Given the description of an element on the screen output the (x, y) to click on. 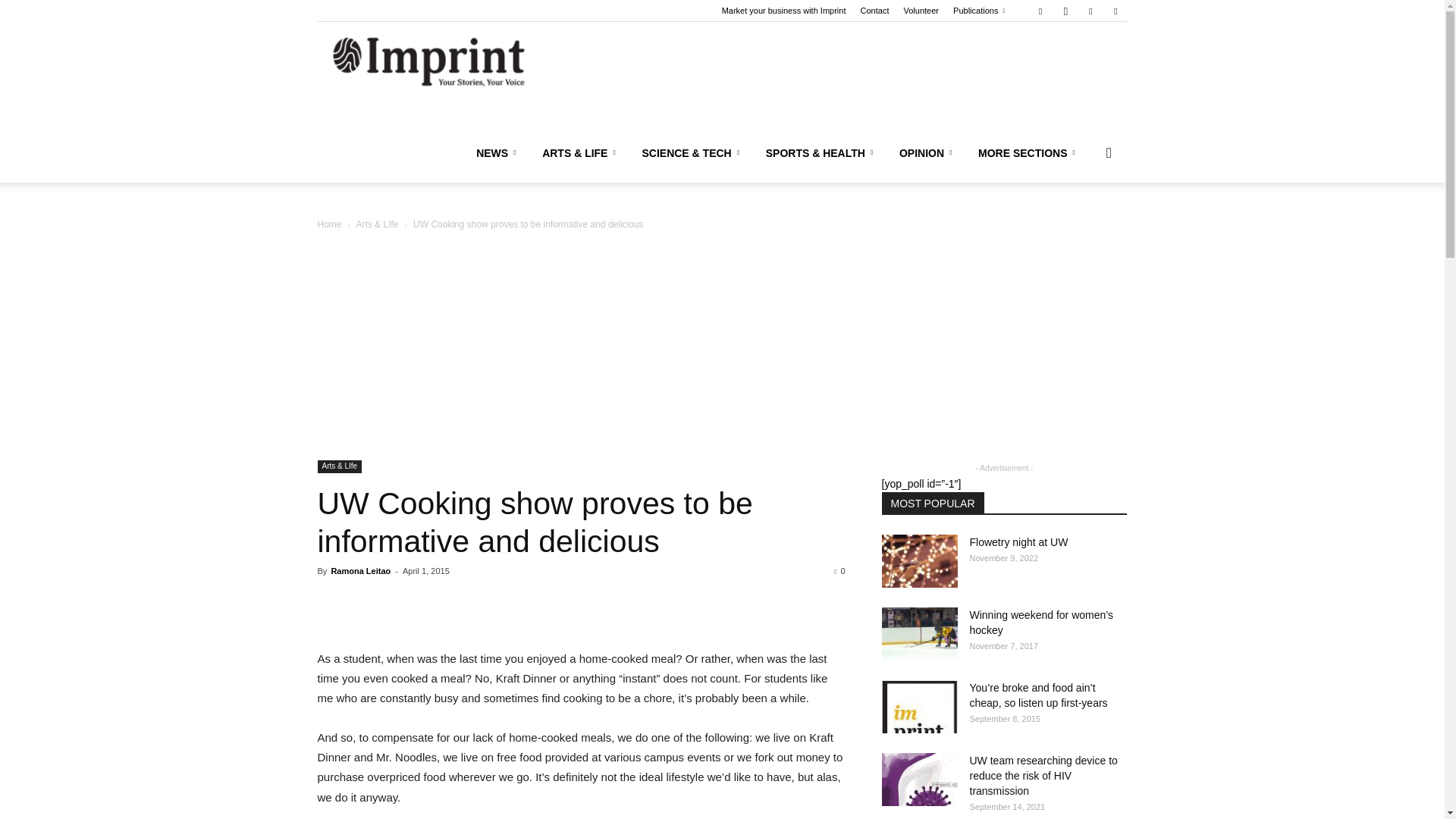
Market your business with Imprint (783, 10)
Youtube (1114, 10)
Contact (874, 10)
Instagram (1065, 10)
Facebook (1040, 10)
Volunteer (921, 10)
Twitter (1090, 10)
Publications (978, 10)
